Given the description of an element on the screen output the (x, y) to click on. 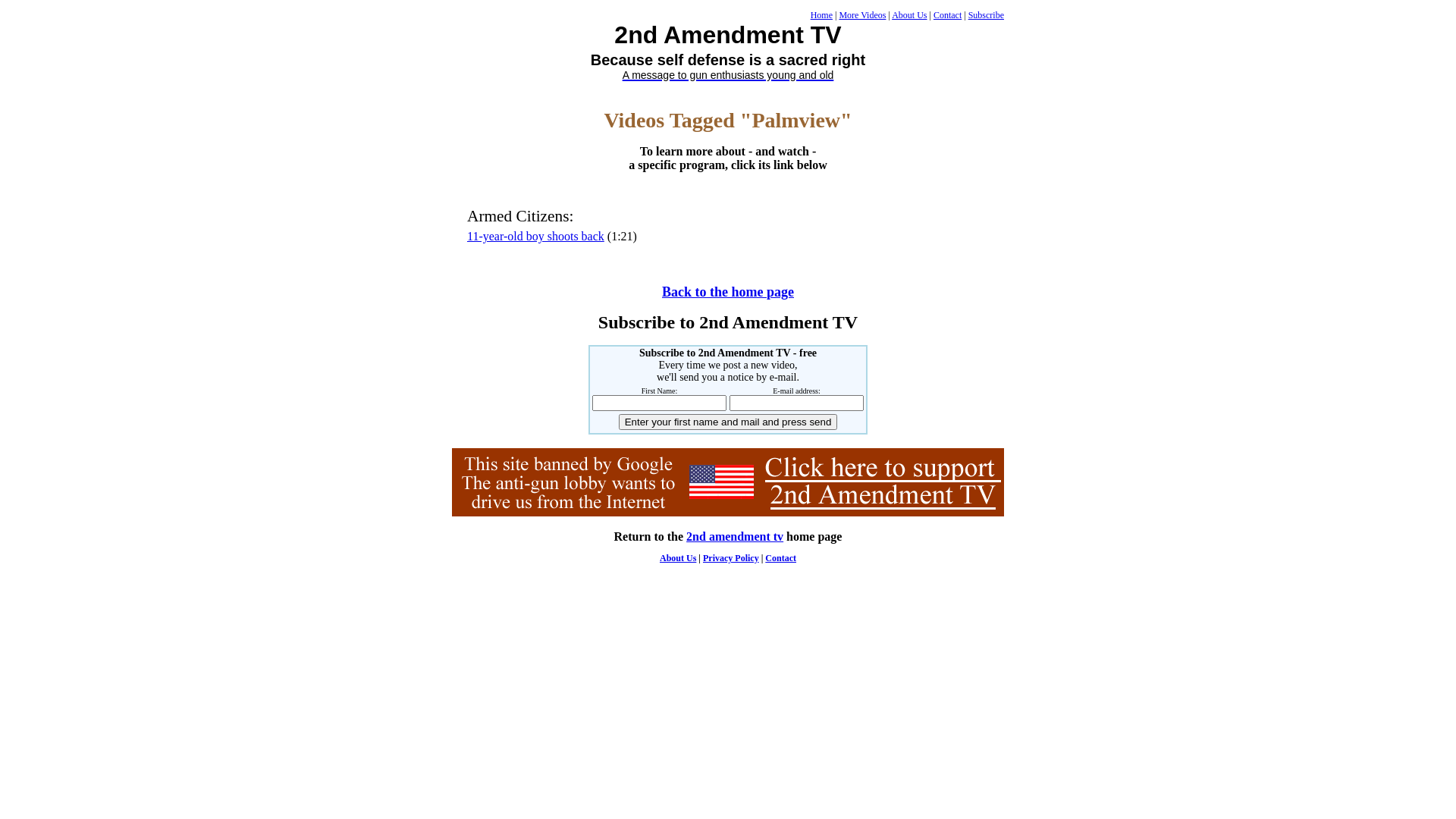
About Us Element type: text (908, 14)
Subscribe Element type: text (986, 14)
11-year-old boy shoots back Element type: text (535, 235)
About Us Element type: text (677, 557)
Home Element type: text (821, 14)
2nd amendment tv Element type: text (734, 536)
Back to the home page Element type: text (727, 291)
Privacy Policy Element type: text (730, 557)
Contact Element type: text (947, 14)
More Videos Element type: text (861, 14)
A message to gun enthusiasts young and old Element type: text (728, 73)
Contact Element type: text (780, 557)
